Given the description of an element on the screen output the (x, y) to click on. 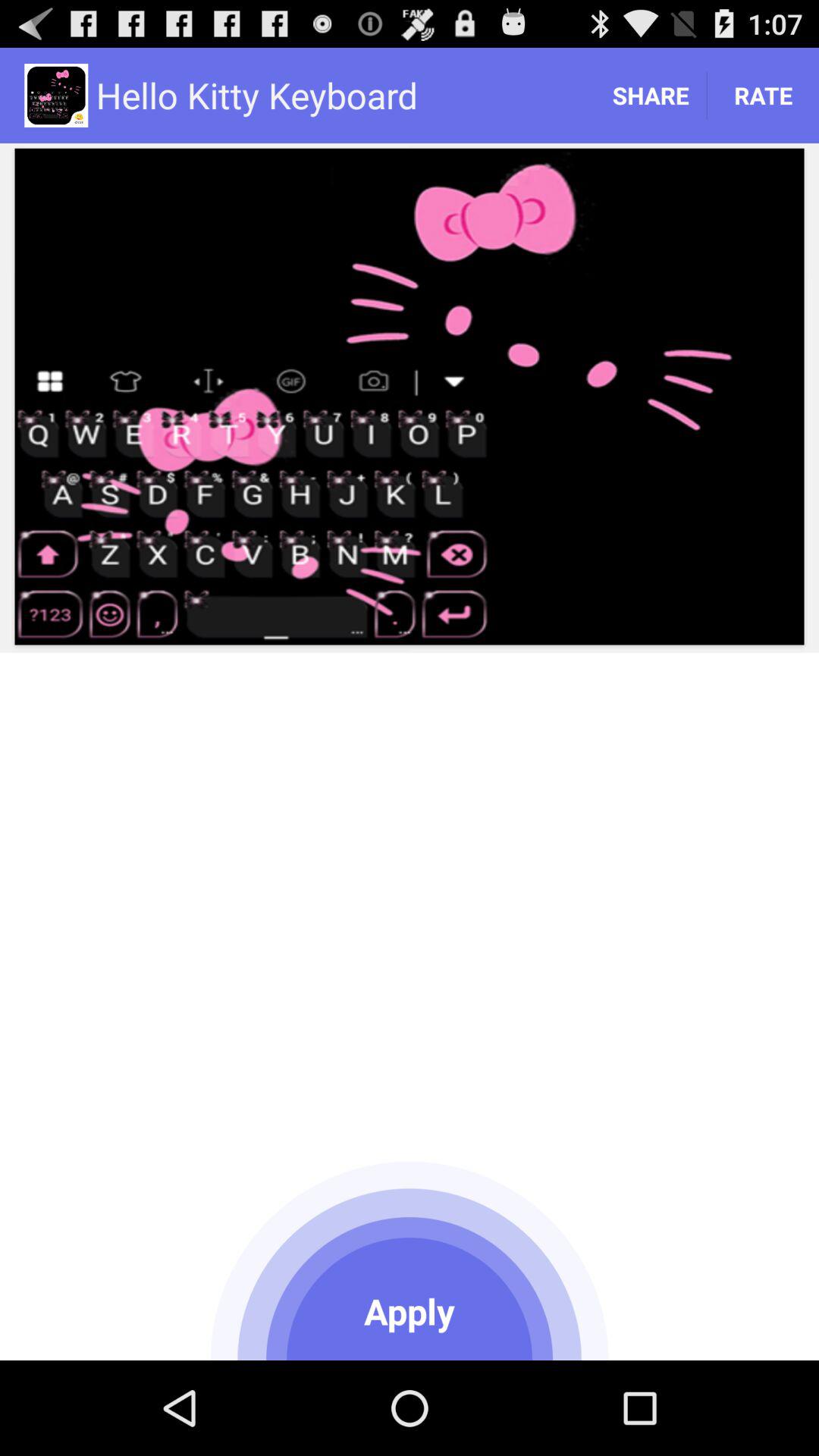
swipe to share icon (650, 95)
